Given the description of an element on the screen output the (x, y) to click on. 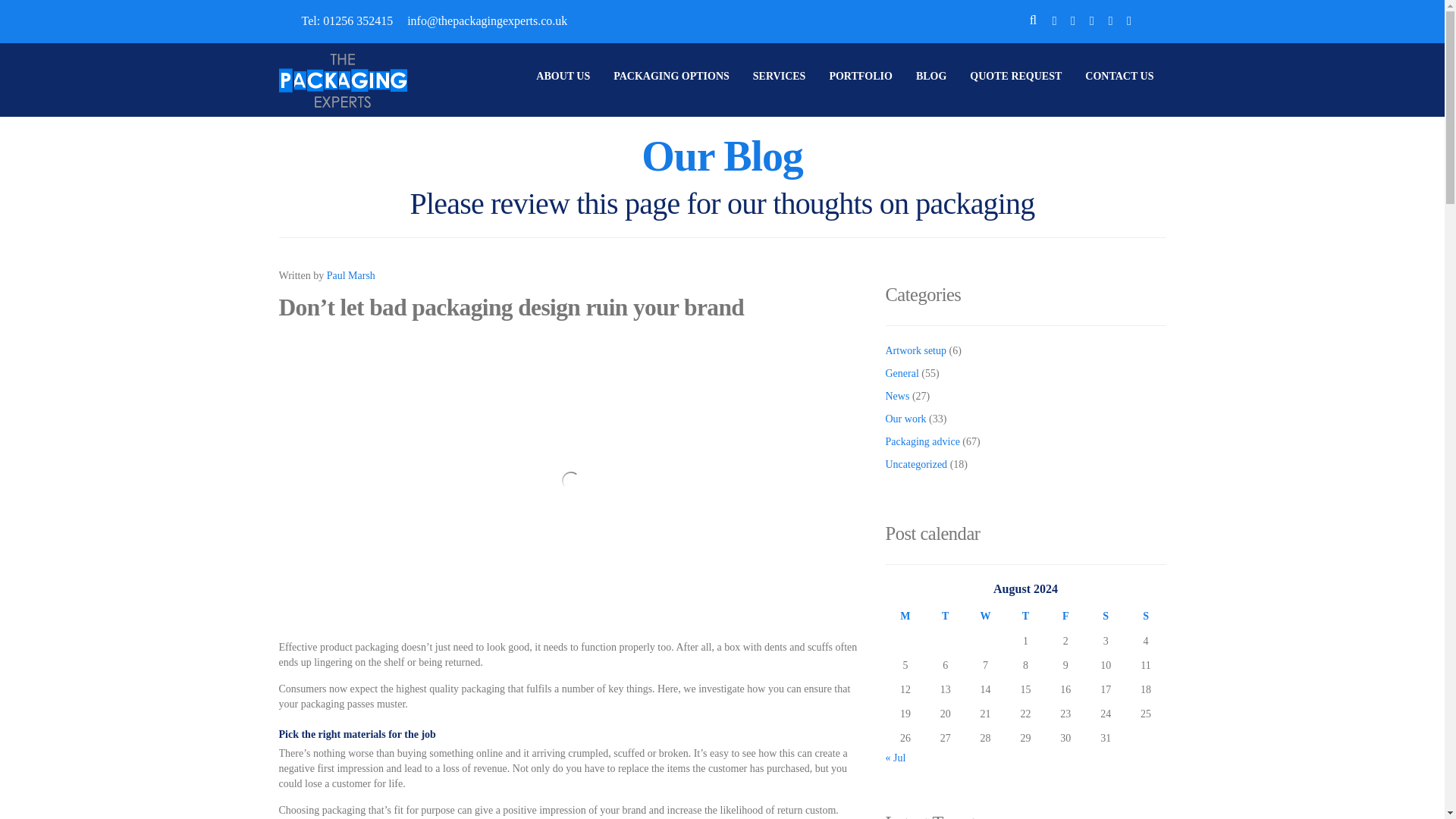
SERVICES (778, 76)
Sunday (1145, 616)
Thursday (1025, 616)
Wednesday (985, 616)
Monday (905, 616)
PORTFOLIO (860, 76)
Tuesday (944, 616)
Saturday (1105, 616)
PACKAGING OPTIONS (671, 76)
ABOUT US (562, 76)
